Given the description of an element on the screen output the (x, y) to click on. 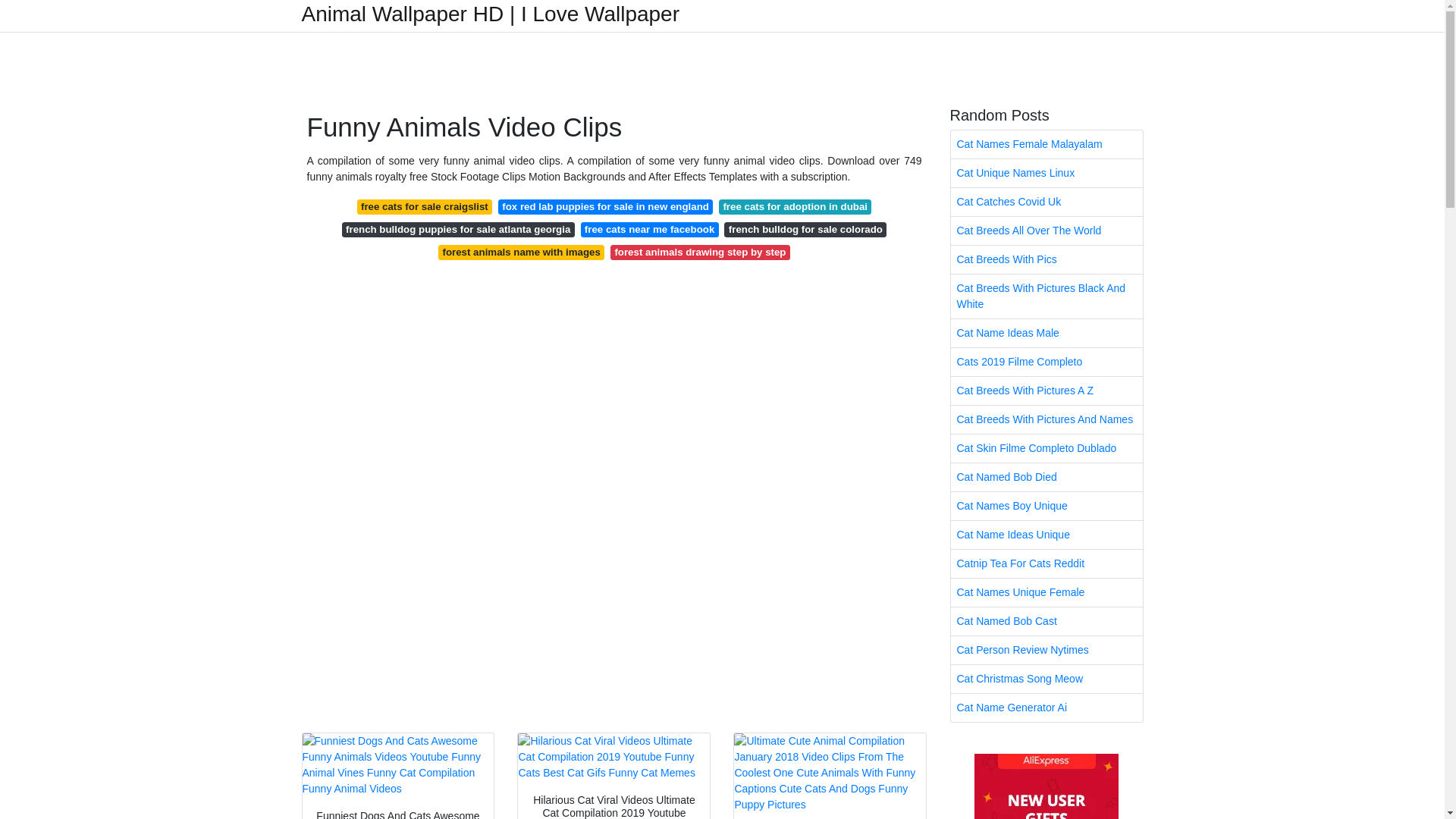
free cats for sale craigslist (424, 206)
Cat Breeds With Pictures A Z (1046, 390)
fox red lab puppies for sale in new england (605, 206)
Cat Breeds With Pics (1046, 259)
Cat Unique Names Linux (1046, 172)
Cat Names Female Malayalam (1046, 144)
Cat Breeds All Over The World (1046, 230)
free cats for adoption in dubai (794, 206)
forest animals name with images (521, 252)
Cats 2019 Filme Completo (1046, 361)
